Given the description of an element on the screen output the (x, y) to click on. 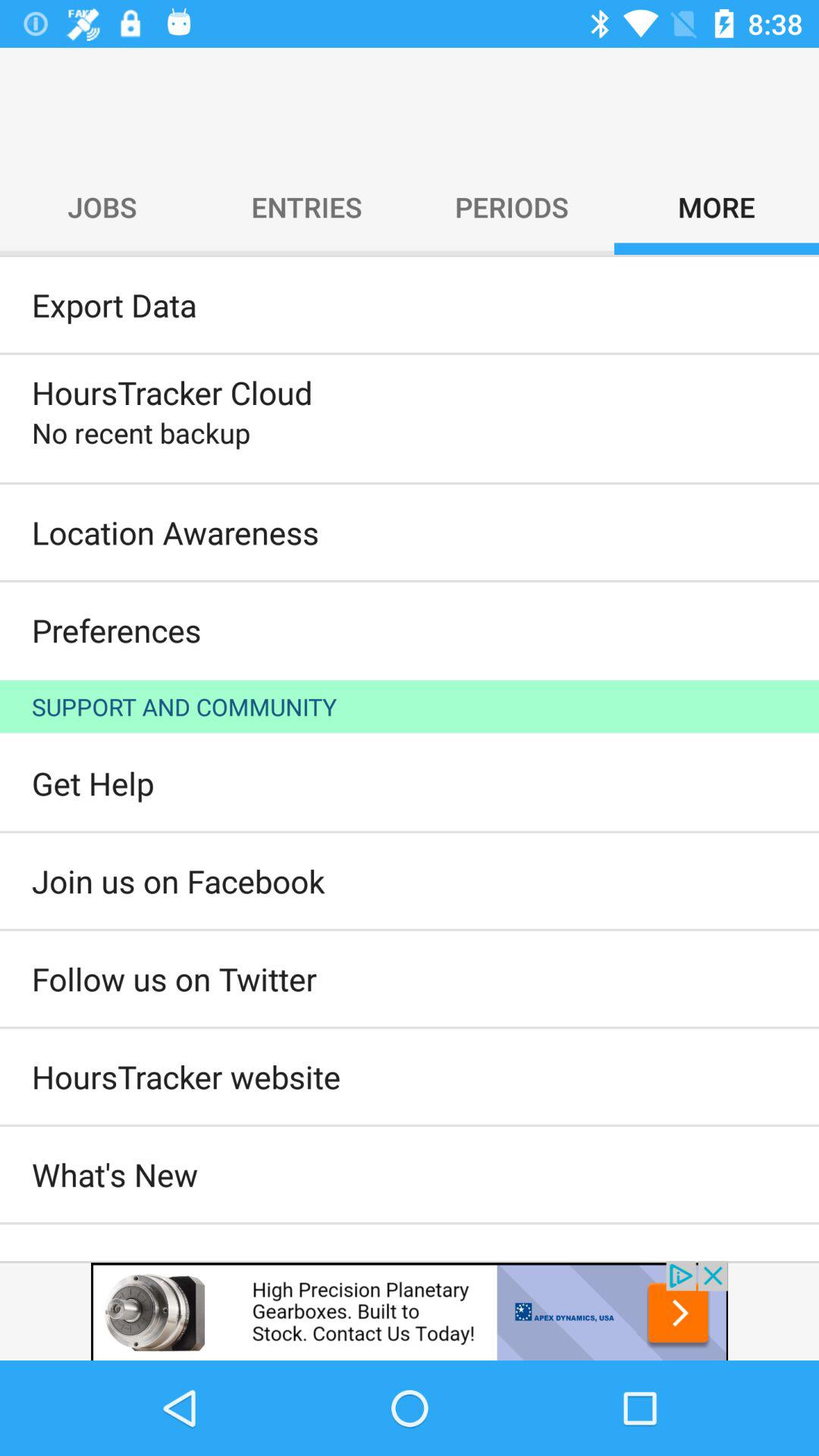
go to precision planetary (409, 1310)
